Given the description of an element on the screen output the (x, y) to click on. 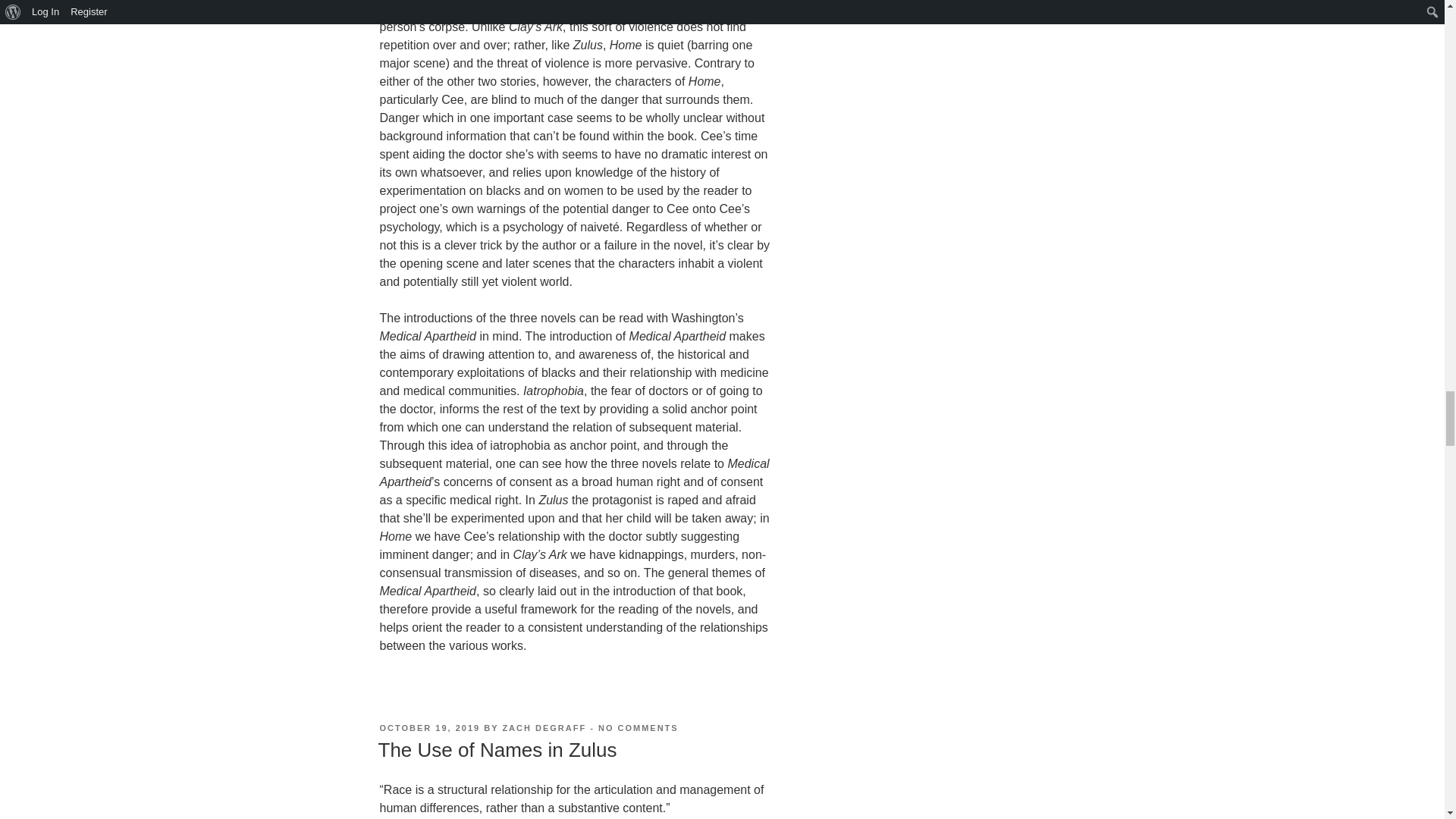
ZACH DEGRAFF (544, 727)
OCTOBER 19, 2019 (638, 727)
The Use of Names in Zulus (429, 727)
